Given the description of an element on the screen output the (x, y) to click on. 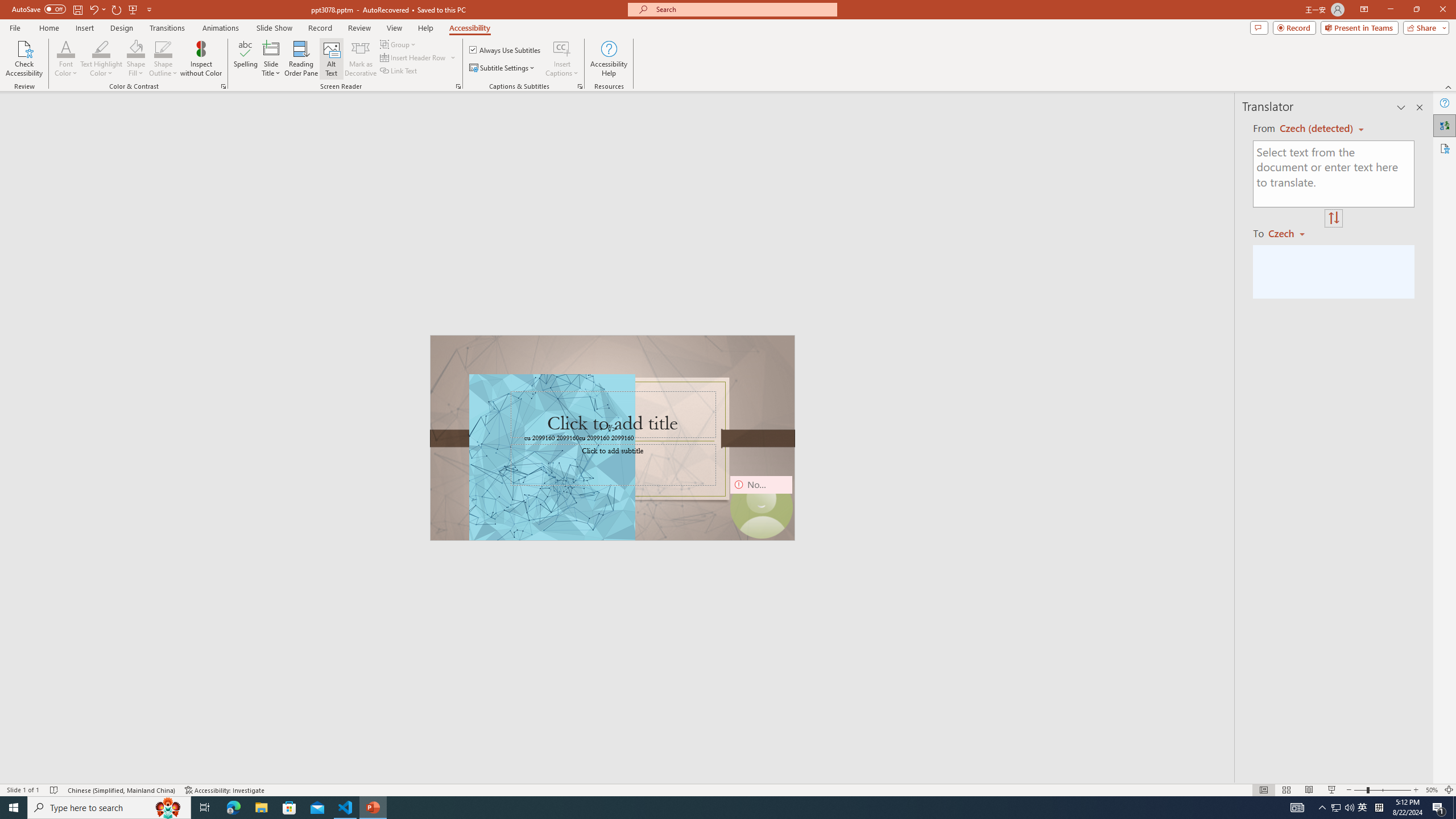
Screen Reader (458, 85)
